Given the description of an element on the screen output the (x, y) to click on. 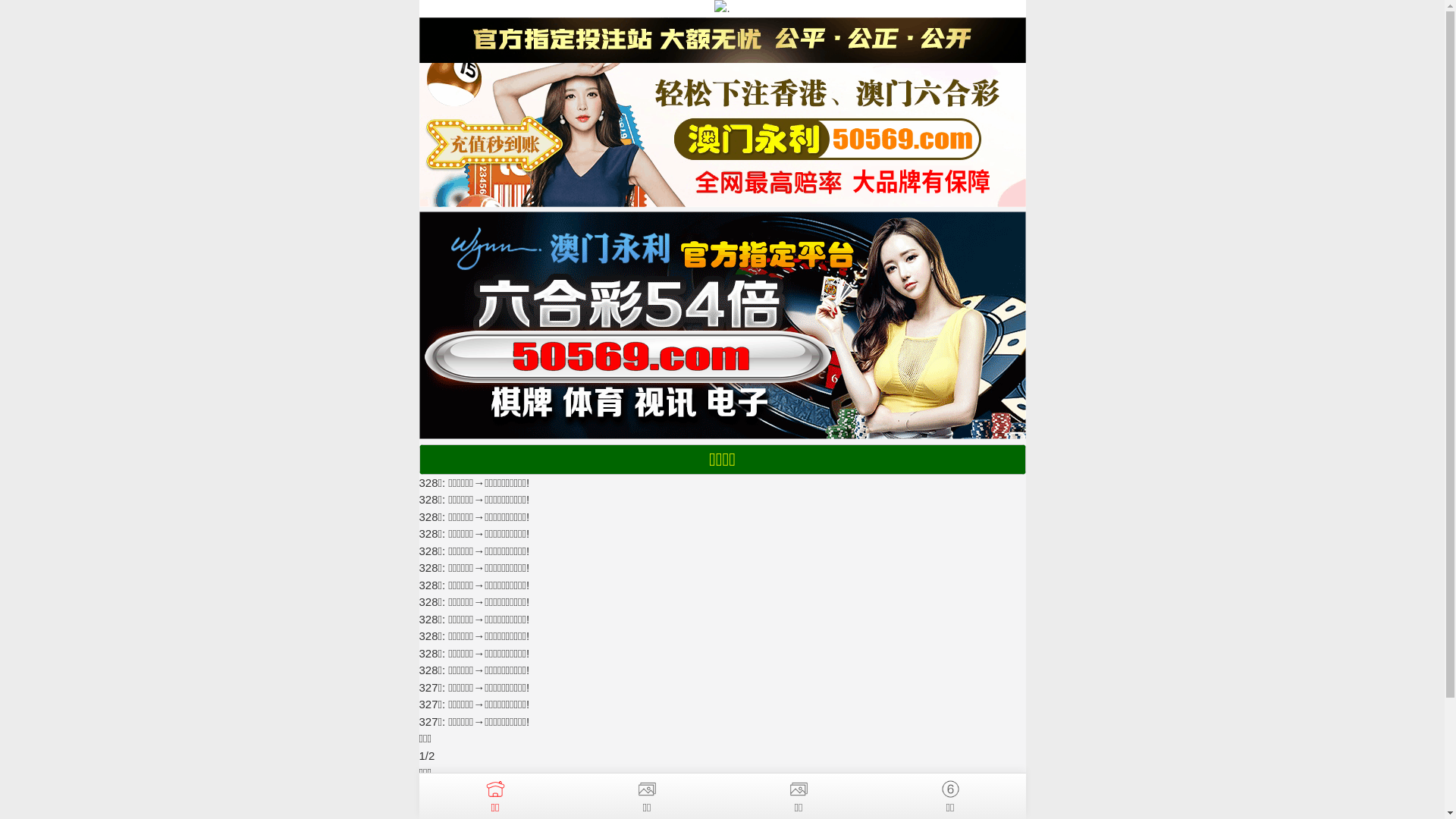
1/2 Element type: text (426, 755)
